Given the description of an element on the screen output the (x, y) to click on. 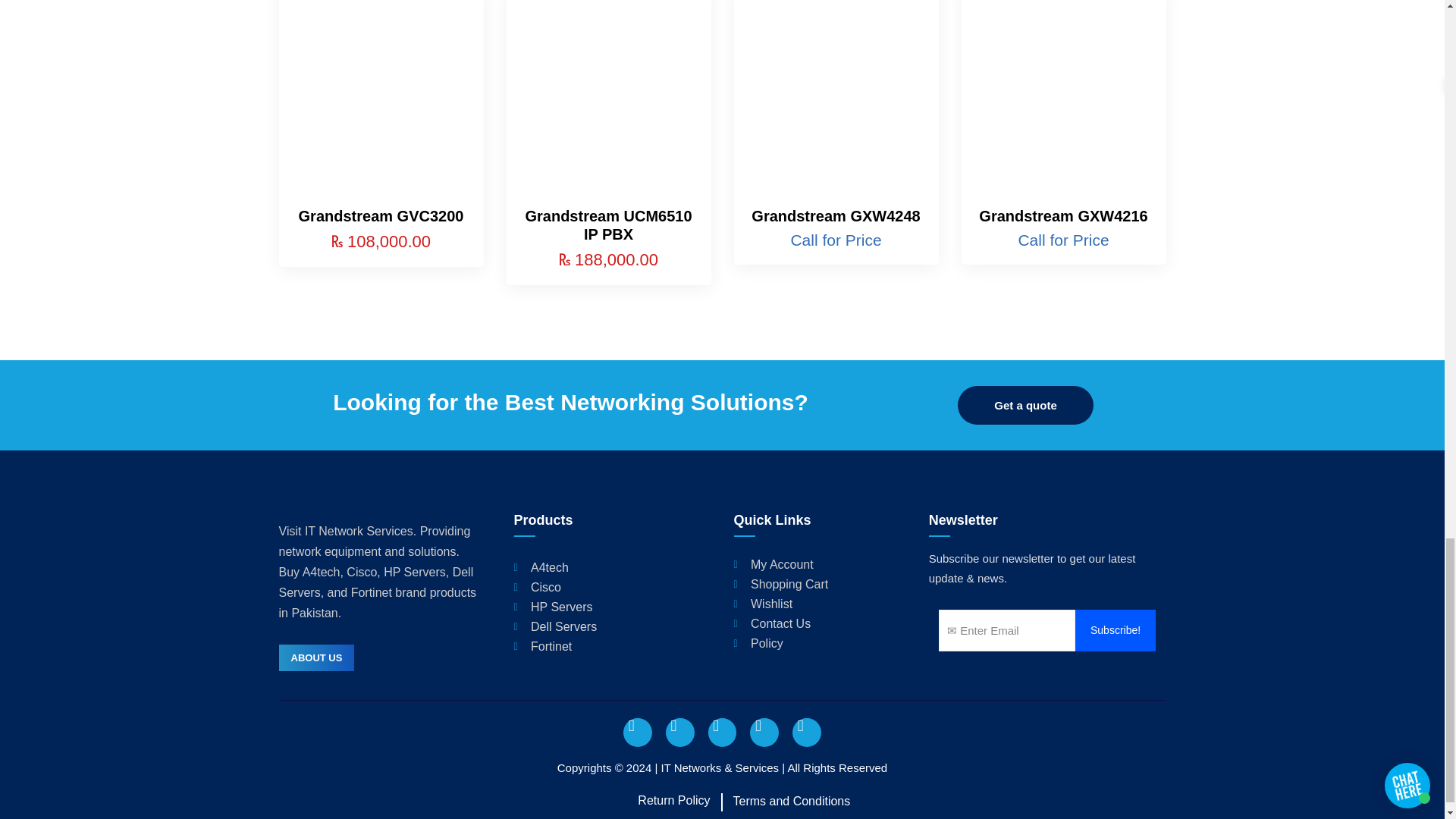
Subscribe! (1115, 630)
